Given the description of an element on the screen output the (x, y) to click on. 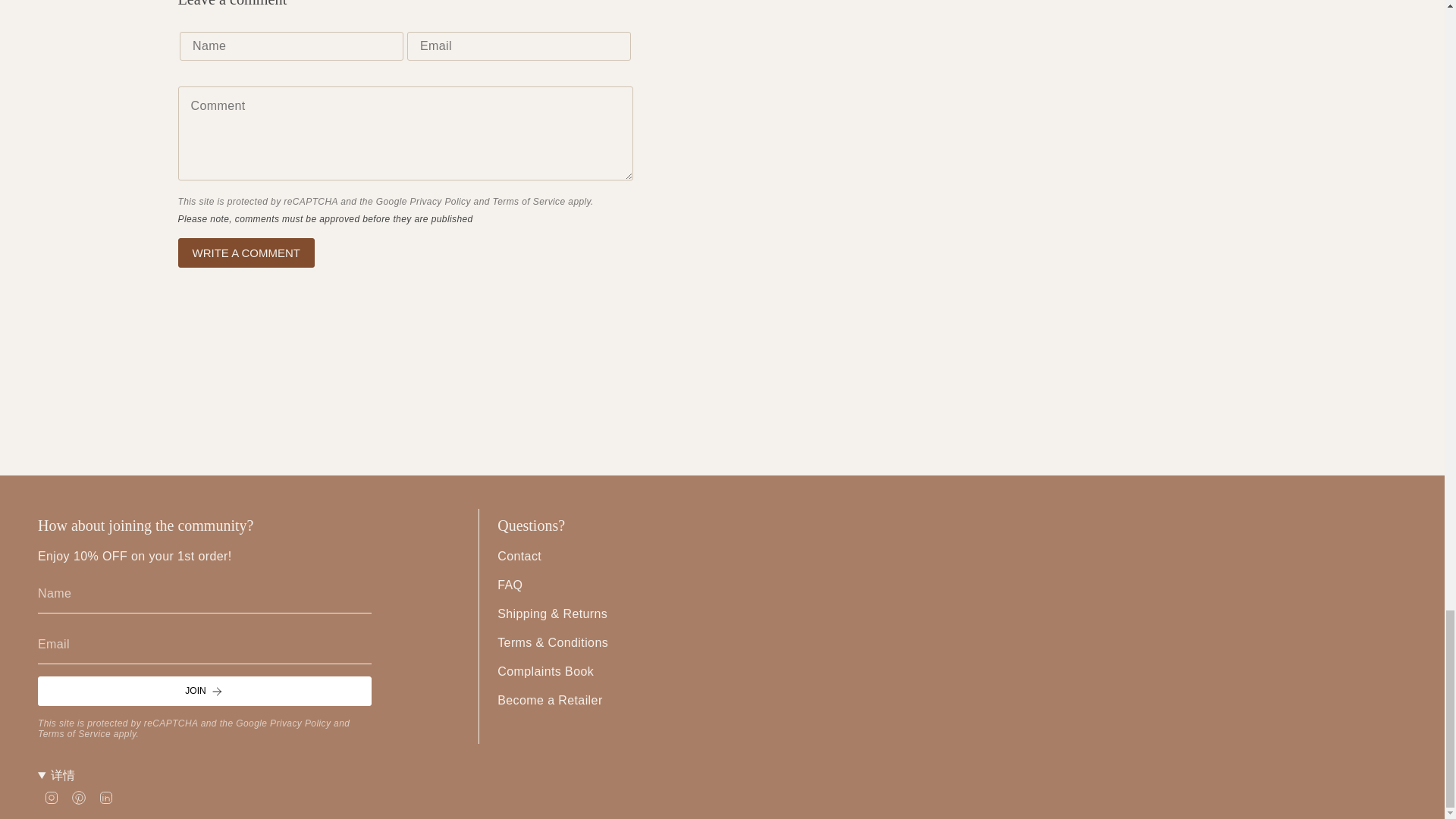
Write a comment (245, 252)
